Given the description of an element on the screen output the (x, y) to click on. 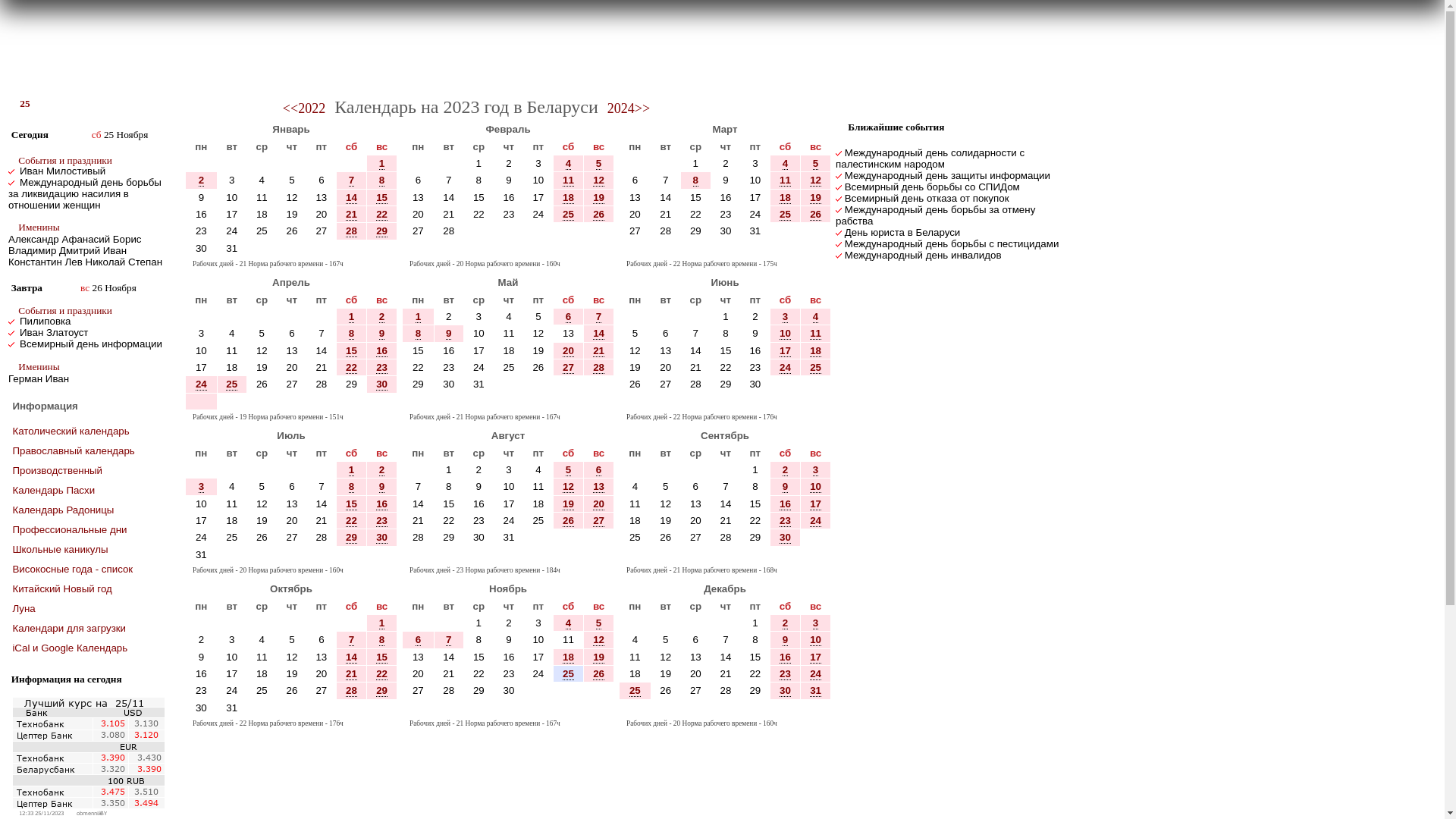
25 Element type: text (568, 674)
25 Element type: text (568, 673)
28 Element type: text (598, 367)
25 Element type: text (231, 536)
21 Element type: text (417, 520)
10 Element type: text (479, 333)
14 Element type: text (448, 657)
8 Element type: text (381, 639)
6 Element type: text (665, 332)
18 Element type: text (261, 673)
21 Element type: text (598, 351)
5 Element type: text (598, 163)
15 Element type: text (479, 197)
  Element type: text (785, 248)
21 Element type: text (725, 673)
18 Element type: text (262, 673)
23 Element type: text (754, 367)
10 Element type: text (200, 503)
26 Element type: text (568, 520)
14 Element type: text (417, 503)
26 Element type: text (292, 230)
6 Element type: text (291, 333)
27 Element type: text (291, 537)
  Element type: text (568, 537)
2 Element type: text (200, 639)
29 Element type: text (351, 383)
12 Element type: text (261, 350)
25 Element type: text (634, 536)
  Element type: text (634, 469)
14 Element type: text (448, 656)
27 Element type: text (695, 537)
20 Element type: text (417, 214)
1 Element type: text (381, 163)
30 Element type: text (478, 536)
21 Element type: text (351, 674)
24 Element type: text (815, 673)
14 Element type: text (725, 503)
24 Element type: text (508, 520)
3 Element type: text (815, 622)
<<2022 Element type: text (303, 108)
12 Element type: text (291, 657)
17 Element type: text (537, 656)
1 Element type: text (351, 470)
8 Element type: text (381, 180)
16 Element type: text (381, 350)
15 Element type: text (754, 656)
  Element type: text (598, 230)
18 Element type: text (568, 197)
18 Element type: text (785, 197)
22 Element type: text (754, 520)
2 Element type: text (200, 180)
25 Element type: text (262, 230)
30 Element type: text (785, 690)
12 Element type: text (665, 657)
  Element type: text (417, 554)
19 Element type: text (291, 673)
14 Element type: text (448, 197)
31 Element type: text (815, 690)
6 Element type: text (291, 486)
28 Element type: text (351, 690)
6 Element type: text (665, 333)
30 Element type: text (785, 537)
  Element type: text (321, 707)
  Element type: text (291, 554)
1 Element type: text (754, 469)
21 Element type: text (448, 673)
  Element type: text (262, 316)
13 Element type: text (291, 350)
11 Element type: text (568, 639)
5 Element type: text (665, 486)
  Element type: text (568, 554)
13 Element type: text (320, 656)
  Element type: text (598, 537)
21 Element type: text (351, 673)
16 Element type: text (201, 213)
15 Element type: text (754, 657)
26 Element type: text (261, 383)
9 Element type: text (508, 639)
2 Element type: text (381, 316)
23 Element type: text (201, 230)
20 Element type: text (320, 673)
  Element type: text (538, 401)
4 Element type: text (231, 332)
5 Element type: text (634, 332)
14 Element type: text (320, 503)
29 Element type: text (448, 536)
13 Element type: text (417, 656)
8 Element type: text (448, 486)
30 Element type: text (508, 690)
12 Element type: text (261, 503)
14 Element type: text (320, 350)
  Element type: text (665, 248)
13 Element type: text (292, 503)
11 Element type: text (262, 657)
  Element type: text (291, 401)
18 Element type: text (634, 673)
  Element type: text (815, 401)
10 Element type: text (231, 197)
27 Element type: text (695, 536)
  Element type: text (448, 554)
11 Element type: text (231, 503)
9 Element type: text (200, 197)
10 Element type: text (784, 333)
9 Element type: text (508, 639)
31 Element type: text (200, 554)
24 Element type: text (537, 673)
24 Element type: text (815, 520)
  Element type: text (598, 554)
23 Element type: text (725, 214)
  Element type: text (351, 554)
2 Element type: text (785, 469)
20 Element type: text (695, 673)
28 Element type: text (725, 537)
2024>> Element type: text (628, 108)
6 Element type: text (695, 486)
25 Element type: text (568, 214)
11 Element type: text (815, 333)
29 Element type: text (381, 690)
2 Element type: text (508, 163)
9 Element type: text (448, 333)
30 Element type: text (784, 537)
6 Element type: text (695, 639)
11 Element type: text (231, 350)
7 Element type: text (725, 639)
15 Element type: text (448, 503)
3 Element type: text (200, 486)
28 Element type: text (448, 690)
13 Element type: text (695, 657)
  Element type: text (508, 554)
4 Element type: text (508, 316)
  Element type: text (508, 707)
  Element type: text (200, 622)
24 Element type: text (784, 367)
2 Element type: text (200, 639)
24 Element type: text (201, 384)
  Element type: text (417, 622)
15 Element type: text (695, 197)
30 Element type: text (784, 690)
5 Element type: text (815, 163)
  Element type: text (538, 707)
4 Element type: text (815, 316)
1 Element type: text (695, 163)
25 Element type: text (261, 690)
  Element type: text (695, 707)
21 Element type: text (665, 214)
  Element type: text (695, 622)
16 Element type: text (508, 197)
10 Element type: text (815, 486)
1 Element type: text (417, 316)
7 Element type: text (598, 316)
  Element type: text (508, 230)
24 Element type: text (231, 230)
23 Element type: text (448, 367)
30 Element type: text (200, 248)
16 Element type: text (725, 197)
28 Element type: text (321, 384)
19 Element type: text (292, 673)
24 Element type: text (537, 213)
4 Element type: text (537, 469)
10 Element type: text (785, 333)
28 Element type: text (351, 230)
19 Element type: text (568, 503)
8 Element type: text (448, 486)
  Element type: text (725, 707)
  Element type: text (634, 622)
2 Element type: text (381, 316)
11 Element type: text (815, 333)
21 Element type: text (448, 673)
  Element type: text (417, 248)
30 Element type: text (381, 537)
  Element type: text (200, 163)
20 Element type: text (292, 367)
  Element type: text (479, 248)
5 Element type: text (598, 623)
17 Element type: text (784, 351)
29 Element type: text (351, 537)
3 Element type: text (754, 163)
28 Element type: text (321, 537)
  Element type: text (695, 248)
31 Element type: text (231, 707)
23 Element type: text (725, 213)
3 Element type: text (538, 163)
16 Element type: text (784, 657)
26 Element type: text (291, 690)
  Element type: text (321, 401)
  Element type: text (815, 384)
16 Element type: text (479, 503)
14 Element type: text (665, 197)
31 Element type: text (231, 248)
  Element type: text (754, 248)
18 Element type: text (634, 673)
4 Element type: text (231, 486)
18 Element type: text (538, 503)
7 Element type: text (351, 639)
  Element type: text (291, 707)
1 Element type: text (695, 163)
1 Element type: text (417, 316)
29 Element type: text (351, 384)
2 Element type: text (725, 163)
14 Element type: text (351, 657)
13 Element type: text (634, 197)
21 Element type: text (695, 367)
4 Element type: text (261, 639)
14 Element type: text (321, 503)
18 Element type: text (784, 197)
11 Element type: text (537, 486)
12 Element type: text (815, 180)
6 Element type: text (291, 486)
  Element type: text (785, 554)
17 Element type: text (231, 673)
7 Element type: text (448, 639)
7 Element type: text (321, 333)
  Element type: text (291, 163)
22 Element type: text (695, 213)
15 Element type: text (448, 503)
7 Element type: text (725, 486)
  Element type: text (695, 469)
18 Element type: text (231, 520)
6 Element type: text (634, 179)
5 Element type: text (262, 333)
3 Element type: text (200, 333)
24 Element type: text (754, 214)
9 Element type: text (200, 657)
2 Element type: text (479, 469)
5 Element type: text (538, 316)
22 Element type: text (725, 367)
26 Element type: text (538, 367)
19 Element type: text (598, 197)
  Element type: text (695, 554)
6 Element type: text (598, 469)
6 Element type: text (320, 179)
29 Element type: text (754, 537)
3 Element type: text (231, 639)
15 Element type: text (754, 503)
  Element type: text (351, 163)
19 Element type: text (262, 520)
  Element type: text (262, 707)
31 Element type: text (508, 536)
  Element type: text (321, 316)
16 Element type: text (784, 504)
26 Element type: text (815, 214)
2 Element type: text (754, 316)
  Element type: text (598, 690)
19 Element type: text (568, 504)
  Element type: text (381, 707)
3 Element type: text (815, 470)
26 Element type: text (292, 690)
27 Element type: text (598, 520)
18 Element type: text (815, 350)
20 Element type: text (634, 213)
8 Element type: text (351, 333)
  Element type: text (417, 163)
29 Element type: text (417, 384)
  Element type: text (538, 537)
23 Element type: text (754, 367)
6 Element type: text (417, 639)
24 Element type: text (200, 384)
28 Element type: text (695, 384)
24 Element type: text (231, 690)
3 Element type: text (815, 623)
12 Element type: text (634, 350)
16 Element type: text (201, 673)
2 Element type: text (448, 316)
23 Element type: text (785, 673)
  Element type: text (448, 163)
24 Element type: text (754, 213)
7 Element type: text (725, 639)
19 Element type: text (262, 367)
28 Element type: text (695, 383)
27 Element type: text (417, 230)
13 Element type: text (417, 197)
  Element type: text (785, 401)
  Element type: text (262, 622)
  Element type: text (568, 690)
20 Element type: text (320, 213)
22 Element type: text (754, 673)
16 Element type: text (754, 350)
12 Element type: text (538, 333)
30 Element type: text (725, 230)
23 Element type: text (479, 520)
  Element type: text (417, 401)
11 Element type: text (262, 197)
6 Element type: text (695, 639)
30 Element type: text (200, 707)
1 Element type: text (754, 469)
15 Element type: text (478, 656)
17 Element type: text (537, 197)
5 Element type: text (291, 639)
23 Element type: text (200, 230)
17 Element type: text (201, 367)
  Element type: text (538, 248)
29 Element type: text (381, 230)
6 Element type: text (321, 639)
   25 Element type: text (21, 103)
27 Element type: text (695, 690)
2 Element type: text (784, 470)
  Element type: text (321, 469)
18 Element type: text (634, 520)
21 Element type: text (448, 213)
14 Element type: text (448, 197)
20 Element type: text (417, 673)
19 Element type: text (634, 367)
14 Element type: text (665, 197)
12 Element type: text (598, 180)
  Element type: text (262, 163)
9 Element type: text (381, 486)
5 Element type: text (634, 333)
8 Element type: text (478, 179)
8 Element type: text (478, 639)
  Element type: text (351, 401)
25 Element type: text (785, 214)
19 Element type: text (665, 520)
27 Element type: text (568, 367)
  Element type: text (634, 316)
7 Element type: text (320, 486)
23 Element type: text (478, 520)
4 Element type: text (568, 163)
9 Element type: text (754, 333)
19 Element type: text (598, 197)
1 Element type: text (754, 622)
23 Element type: text (381, 367)
5 Element type: text (261, 486)
12 Element type: text (291, 197)
23 Element type: text (201, 690)
21 Element type: text (321, 520)
30 Element type: text (725, 230)
14 Element type: text (351, 657)
8 Element type: text (725, 333)
29 Element type: text (381, 231)
28 Element type: text (598, 367)
25 Element type: text (261, 230)
25 Element type: text (537, 520)
4 Element type: text (785, 163)
16 Element type: text (381, 351)
24 Element type: text (538, 214)
23 Element type: text (381, 520)
1 Element type: text (448, 469)
14 Element type: text (695, 350)
28 Element type: text (351, 231)
22 Element type: text (351, 520)
8 Element type: text (479, 180)
22 Element type: text (381, 674)
7 Element type: text (448, 179)
23 Element type: text (381, 520)
12 Element type: text (598, 180)
20 Element type: text (665, 367)
15 Element type: text (417, 350)
8 Element type: text (351, 486)
10 Element type: text (200, 350)
19 Element type: text (815, 197)
  Element type: text (262, 469)
20 Element type: text (695, 520)
3 Element type: text (200, 332)
  Element type: text (725, 554)
20 Element type: text (568, 350)
8 Element type: text (725, 332)
23 Element type: text (448, 367)
  Element type: text (815, 230)
10 Element type: text (201, 350)
17 Element type: text (479, 350)
24 Element type: text (231, 230)
18 Element type: text (568, 657)
26 Element type: text (291, 230)
30 Element type: text (448, 383)
20 Element type: text (417, 213)
3 Element type: text (479, 316)
25 Element type: text (231, 384)
21 Element type: text (598, 350)
1 Element type: text (381, 163)
1 Element type: text (478, 622)
6 Element type: text (291, 332)
7 Element type: text (695, 333)
5 Element type: text (537, 316)
1 Element type: text (351, 316)
22 Element type: text (381, 214)
  Element type: text (538, 554)
13 Element type: text (292, 350)
24 Element type: text (815, 520)
19 Element type: text (598, 657)
7 Element type: text (417, 486)
  Element type: text (262, 248)
19 Element type: text (815, 197)
  Element type: text (815, 537)
21 Element type: text (725, 673)
27 Element type: text (598, 520)
3 Element type: text (200, 486)
17 Element type: text (538, 197)
  Element type: text (231, 316)
  Element type: text (695, 401)
  Element type: text (754, 707)
28 Element type: text (665, 230)
30 Element type: text (381, 384)
4 Element type: text (634, 486)
  Element type: text (448, 248)
27 Element type: text (417, 230)
22 Element type: text (417, 367)
5 Element type: text (815, 163)
  Element type: text (634, 554)
2 Element type: text (448, 316)
19 Element type: text (292, 213)
13 Element type: text (695, 503)
14 Element type: text (725, 657)
14 Element type: text (321, 350)
  Element type: text (725, 469)
13 Element type: text (598, 486)
15 Element type: text (351, 504)
24 Element type: text (538, 673)
7 Element type: text (665, 180)
22 Element type: text (479, 673)
6 Element type: text (634, 180)
2 Element type: text (508, 163)
2 Element type: text (725, 163)
  Element type: text (508, 401)
14 Element type: text (351, 197)
7 Element type: text (321, 486)
15 Element type: text (381, 657)
23 Element type: text (784, 674)
  Element type: text (725, 622)
13 Element type: text (417, 197)
3 Element type: text (231, 180)
22 Element type: text (417, 367)
31 Element type: text (815, 690)
  Element type: text (200, 469)
22 Element type: text (448, 520)
20 Element type: text (568, 351)
25 Element type: text (815, 367)
25 Element type: text (784, 214)
20 Element type: text (598, 503)
29 Element type: text (754, 690)
30 Element type: text (508, 690)
1 Element type: text (479, 163)
29 Element type: text (417, 383)
31 Element type: text (478, 383)
9 Element type: text (784, 639)
18 Element type: text (508, 350)
26 Element type: text (598, 214)
24 Element type: text (478, 367)
8 Element type: text (754, 639)
9 Element type: text (200, 656)
1 Element type: text (381, 623)
22 Element type: text (754, 520)
7 Element type: text (320, 332)
2 Element type: text (754, 316)
15 Element type: text (479, 657)
30 Element type: text (754, 383)
  Element type: text (754, 401)
22 Element type: text (725, 367)
19 Element type: text (261, 367)
23 Element type: text (508, 214)
5 Element type: text (291, 639)
10 Element type: text (478, 332)
9 Element type: text (725, 179)
13 Element type: text (695, 503)
  Element type: text (695, 316)
  Element type: text (448, 622)
21 Element type: text (665, 213)
7 Element type: text (351, 180)
  Element type: text (321, 554)
27 Element type: text (417, 690)
26 Element type: text (261, 536)
  Element type: text (568, 707)
17 Element type: text (231, 213)
3 Element type: text (231, 639)
3 Element type: text (478, 316)
16 Element type: text (508, 197)
  Element type: text (665, 163)
18 Element type: text (537, 503)
8 Element type: text (754, 486)
3 Element type: text (508, 469)
19 Element type: text (665, 673)
22 Element type: text (351, 367)
27 Element type: text (665, 383)
15 Element type: text (478, 197)
12 Element type: text (598, 639)
  Element type: text (417, 469)
6 Element type: text (417, 639)
16 Element type: text (785, 657)
14 Element type: text (598, 333)
27 Element type: text (634, 230)
4 Element type: text (568, 163)
  Element type: text (665, 401)
12 Element type: text (292, 197)
12 Element type: text (568, 486)
15 Element type: text (725, 350)
22 Element type: text (448, 520)
19 Element type: text (538, 350)
19 Element type: text (291, 214)
5 Element type: text (568, 469)
17 Element type: text (785, 350)
  Element type: text (538, 230)
10 Element type: text (815, 639)
31 Element type: text (231, 248)
23 Element type: text (508, 213)
30 Element type: text (381, 537)
3 Element type: text (815, 469)
25 Element type: text (508, 367)
  Element type: text (479, 230)
30 Element type: text (201, 707)
  Element type: text (725, 248)
7 Element type: text (351, 639)
8 Element type: text (695, 180)
26 Element type: text (665, 536)
28 Element type: text (417, 537)
26 Element type: text (262, 384)
  Element type: text (665, 469)
15 Element type: text (754, 503)
26 Element type: text (634, 383)
10 Element type: text (508, 486)
11 Element type: text (508, 333)
9 Element type: text (381, 333)
  Element type: text (200, 316)
21 Element type: text (448, 214)
18 Element type: text (815, 351)
22 Element type: text (381, 214)
  Element type: text (634, 401)
19 Element type: text (665, 520)
7 Element type: text (725, 486)
22 Element type: text (754, 673)
26 Element type: text (598, 674)
26 Element type: text (598, 214)
4 Element type: text (634, 486)
1 Element type: text (351, 316)
22 Element type: text (351, 367)
5 Element type: text (568, 470)
6 Element type: text (417, 180)
25 Element type: text (231, 537)
26 Element type: text (537, 367)
21 Element type: text (351, 214)
  Element type: text (725, 401)
15 Element type: text (381, 197)
18 Element type: text (231, 367)
14 Element type: text (351, 197)
  Element type: text (754, 554)
25 Element type: text (538, 520)
  Element type: text (665, 316)
11 Element type: text (634, 503)
20 Element type: text (321, 214)
9 Element type: text (785, 486)
  Element type: text (634, 707)
17 Element type: text (508, 503)
24 Element type: text (200, 537)
  Element type: text (291, 622)
5 Element type: text (291, 180)
23 Element type: text (508, 673)
5 Element type: text (665, 639)
  Element type: text (634, 163)
8 Element type: text (417, 333)
30 Element type: text (201, 248)
  Element type: text (598, 248)
21 Element type: text (351, 214)
  Element type: text (568, 401)
29 Element type: text (478, 690)
26 Element type: text (665, 537)
16 Element type: text (478, 503)
31 Element type: text (231, 707)
15 Element type: text (381, 657)
31 Element type: text (201, 554)
24 Element type: text (231, 690)
8 Element type: text (695, 180)
2 Element type: text (381, 469)
27 Element type: text (320, 230)
6 Element type: text (417, 179)
21 Element type: text (725, 520)
11 Element type: text (508, 332)
8 Element type: text (351, 333)
25 Element type: text (231, 384)
27 Element type: text (291, 384)
  Element type: text (538, 384)
2 Element type: text (200, 180)
18 Element type: text (262, 214)
7 Element type: text (598, 316)
21 Element type: text (725, 520)
22 Element type: text (381, 673)
2 Element type: text (785, 622)
9 Element type: text (478, 486)
10 Element type: text (754, 179)
14 Element type: text (725, 656)
3 Element type: text (785, 316)
17 Element type: text (231, 673)
8 Element type: text (479, 639)
12 Element type: text (665, 503)
17 Element type: text (815, 503)
16 Element type: text (200, 214)
5 Element type: text (261, 332)
3 Element type: text (784, 316)
11 Element type: text (568, 639)
23 Element type: text (508, 673)
28 Element type: text (448, 230)
29 Element type: text (381, 690)
  Element type: text (568, 384)
16 Element type: text (508, 656)
4 Element type: text (231, 486)
4 Element type: text (538, 469)
28 Element type: text (320, 383)
12 Element type: text (262, 503)
12 Element type: text (815, 180)
25 Element type: text (634, 690)
23 Element type: text (784, 520)
16 Element type: text (448, 350)
11 Element type: text (634, 503)
1 Element type: text (725, 316)
19 Element type: text (261, 520)
9 Element type: text (508, 179)
16 Element type: text (725, 197)
  Element type: text (785, 707)
  Element type: text (200, 401)
4 Element type: text (568, 622)
15 Element type: text (381, 197)
4 Element type: text (634, 639)
28 Element type: text (320, 536)
30 Element type: text (381, 384)
24 Element type: text (201, 536)
  Element type: text (417, 707)
  Element type: text (815, 554)
21 Element type: text (417, 520)
13 Element type: text (417, 657)
5 Element type: text (291, 179)
7 Element type: text (695, 332)
27 Element type: text (292, 536)
2 Element type: text (784, 623)
4 Element type: text (784, 163)
18 Element type: text (231, 520)
17 Element type: text (538, 657)
  Element type: text (321, 163)
15 Element type: text (351, 503)
9 Element type: text (200, 197)
25 Element type: text (634, 690)
9 Element type: text (508, 180)
8 Element type: text (381, 180)
28 Element type: text (725, 690)
29 Element type: text (725, 383)
21 Element type: text (321, 367)
  Element type: text (262, 401)
  Element type: text (291, 469)
14 Element type: text (598, 333)
20 Element type: text (417, 673)
14 Element type: text (417, 503)
5 Element type: text (262, 486)
12 Element type: text (292, 656)
21 Element type: text (695, 367)
28 Element type: text (351, 690)
1 Element type: text (478, 163)
5 Element type: text (665, 486)
29 Element type: text (695, 230)
22 Element type: text (478, 673)
17 Element type: text (201, 520)
26 Element type: text (665, 690)
20 Element type: text (695, 520)
21 Element type: text (320, 367)
6 Element type: text (695, 486)
6 Element type: text (568, 316)
8 Element type: text (381, 639)
10 Element type: text (815, 486)
9 Element type: text (381, 333)
6 Element type: text (320, 639)
27 Element type: text (634, 230)
1 Element type: text (448, 469)
1 Element type: text (381, 622)
19 Element type: text (634, 367)
16 Element type: text (448, 350)
4 Element type: text (262, 639)
2 Element type: text (478, 469)
8 Element type: text (754, 486)
11 Element type: text (261, 197)
20 Element type: text (291, 520)
25 Element type: text (815, 367)
7 Element type: text (448, 180)
11 Element type: text (784, 180)
3 Element type: text (754, 163)
  Element type: text (381, 248)
2 Element type: text (508, 622)
10 Element type: text (508, 486)
17 Element type: text (815, 657)
  Element type: text (479, 401)
  Element type: text (291, 248)
  Element type: text (598, 401)
19 Element type: text (665, 673)
28 Element type: text (417, 536)
31 Element type: text (479, 384)
18 Element type: text (568, 197)
3 Element type: text (508, 469)
  Element type: text (665, 707)
11 Element type: text (568, 180)
5 Element type: text (598, 622)
4 Element type: text (231, 333)
8 Element type: text (417, 333)
  Element type: text (479, 707)
20 Element type: text (598, 504)
25 Element type: text (262, 690)
9 Element type: text (754, 332)
9 Element type: text (785, 639)
16 Element type: text (754, 350)
26 Element type: text (634, 384)
12 Element type: text (634, 350)
18 Element type: text (508, 350)
11 Element type: text (634, 657)
2 Element type: text (508, 622)
  Element type: text (815, 248)
29 Element type: text (725, 384)
9 Element type: text (448, 333)
25 Element type: text (568, 214)
7 Element type: text (351, 180)
31 Element type: text (754, 230)
1 Element type: text (725, 316)
17 Element type: text (815, 504)
12 Element type: text (568, 486)
29 Element type: text (754, 690)
27 Element type: text (417, 690)
12 Element type: text (665, 656)
25 Element type: text (634, 537)
31 Element type: text (508, 537)
24 Element type: text (508, 520)
4 Element type: text (815, 316)
  Element type: text (231, 622)
  Element type: text (815, 707)
26 Element type: text (598, 673)
16 Element type: text (508, 657)
3 Element type: text (231, 179)
20 Element type: text (321, 673)
23 Element type: text (785, 520)
14 Element type: text (695, 350)
  Element type: text (598, 707)
7 Element type: text (417, 486)
  Element type: text (508, 248)
17 Element type: text (754, 197)
10 Element type: text (537, 639)
17 Element type: text (754, 197)
27 Element type: text (320, 690)
  Element type: text (321, 622)
13 Element type: text (695, 656)
7 Element type: text (448, 639)
10 Element type: text (231, 656)
9 Element type: text (725, 180)
10 Element type: text (231, 657)
17 Element type: text (231, 214)
7 Element type: text (665, 179)
  Element type: text (598, 384)
20 Element type: text (292, 520)
1 Element type: text (479, 622)
20 Element type: text (291, 367)
  Element type: text (785, 230)
1 Element type: text (754, 622)
  Element type: text (231, 469)
13 Element type: text (291, 503)
3 Element type: text (538, 622)
15 Element type: text (417, 350)
11 Element type: text (568, 180)
27 Element type: text (292, 383)
13 Element type: text (321, 657)
13 Element type: text (321, 197)
1 Element type: text (351, 469)
12 Element type: text (598, 639)
6 Element type: text (321, 180)
24 Element type: text (815, 674)
27 Element type: text (665, 384)
29 Element type: text (754, 536)
4 Element type: text (634, 639)
29 Element type: text (448, 537)
23 Element type: text (200, 690)
  Element type: text (351, 248)
30 Element type: text (479, 537)
12 Element type: text (262, 350)
9 Element type: text (784, 486)
26 Element type: text (262, 537)
  Element type: text (321, 248)
  Element type: text (634, 248)
4 Element type: text (568, 623)
6 Element type: text (598, 470)
10 Element type: text (231, 197)
4 Element type: text (508, 316)
  Element type: text (665, 622)
18 Element type: text (568, 657)
9 Element type: text (381, 486)
11 Element type: text (231, 350)
31 Element type: text (754, 230)
  Element type: text (448, 401)
26 Element type: text (815, 214)
18 Element type: text (231, 367)
10 Element type: text (201, 503)
  Element type: text (351, 622)
10 Element type: text (537, 179)
9 Element type: text (479, 486)
28 Element type: text (665, 230)
24 Element type: text (479, 367)
22 Element type: text (479, 214)
  Element type: text (351, 707)
16 Element type: text (200, 673)
  Element type: text (665, 554)
13 Element type: text (568, 332)
22 Element type: text (695, 214)
  Element type: text (381, 554)
18 Element type: text (261, 213)
12 Element type: text (537, 332)
22 Element type: text (478, 213)
27 Element type: text (568, 367)
11 Element type: text (785, 180)
17 Element type: text (815, 657)
24 Element type: text (785, 367)
10 Element type: text (815, 639)
29 Element type: text (695, 230)
13 Element type: text (598, 486)
  Element type: text (231, 163)
4 Element type: text (261, 179)
11 Element type: text (261, 656)
10 Element type: text (538, 180)
27 Element type: text (695, 690)
13 Element type: text (665, 350)
27 Element type: text (321, 230)
30 Element type: text (754, 384)
10 Element type: text (754, 180)
28 Element type: text (448, 230)
15 Element type: text (351, 350)
30 Element type: text (448, 384)
  Element type: text (231, 401)
20 Element type: text (695, 673)
19 Element type: text (537, 350)
15 Element type: text (695, 197)
13 Element type: text (665, 350)
  Element type: text (231, 554)
20 Element type: text (665, 367)
  Element type: text (508, 384)
8 Element type: text (754, 639)
3 Element type: text (537, 622)
18 Element type: text (634, 520)
16 Element type: text (381, 503)
16 Element type: text (381, 504)
17 Element type: text (200, 520)
13 Element type: text (568, 333)
28 Element type: text (725, 690)
21 Element type: text (320, 520)
29 Element type: text (479, 690)
  Element type: text (479, 554)
  Element type: text (262, 554)
8 Element type: text (351, 486)
  Element type: text (381, 401)
20 Element type: text (634, 214)
26 Element type: text (665, 690)
15 Element type: text (351, 351)
28 Element type: text (725, 536)
19 Element type: text (598, 657)
4 Element type: text (262, 180)
3 Element type: text (537, 163)
13 Element type: text (634, 197)
17 Element type: text (200, 367)
17 Element type: text (478, 350)
5 Element type: text (665, 639)
5 Element type: text (598, 163)
22 Element type: text (351, 520)
11 Element type: text (538, 486)
6 Element type: text (568, 316)
10 Element type: text (538, 639)
  Element type: text (568, 230)
26 Element type: text (568, 520)
12 Element type: text (665, 503)
15 Element type: text (725, 350)
14 Element type: text (725, 503)
17 Element type: text (508, 503)
27 Element type: text (321, 690)
2 Element type: text (381, 470)
23 Element type: text (381, 367)
  Element type: text (291, 316)
  Element type: text (568, 248)
  Element type: text (538, 690)
13 Element type: text (320, 197)
11 Element type: text (634, 656)
28 Element type: text (448, 690)
29 Element type: text (351, 537)
16 Element type: text (785, 503)
11 Element type: text (231, 503)
  Element type: text (448, 707)
  Element type: text (785, 384)
25 Element type: text (508, 367)
